Given the description of an element on the screen output the (x, y) to click on. 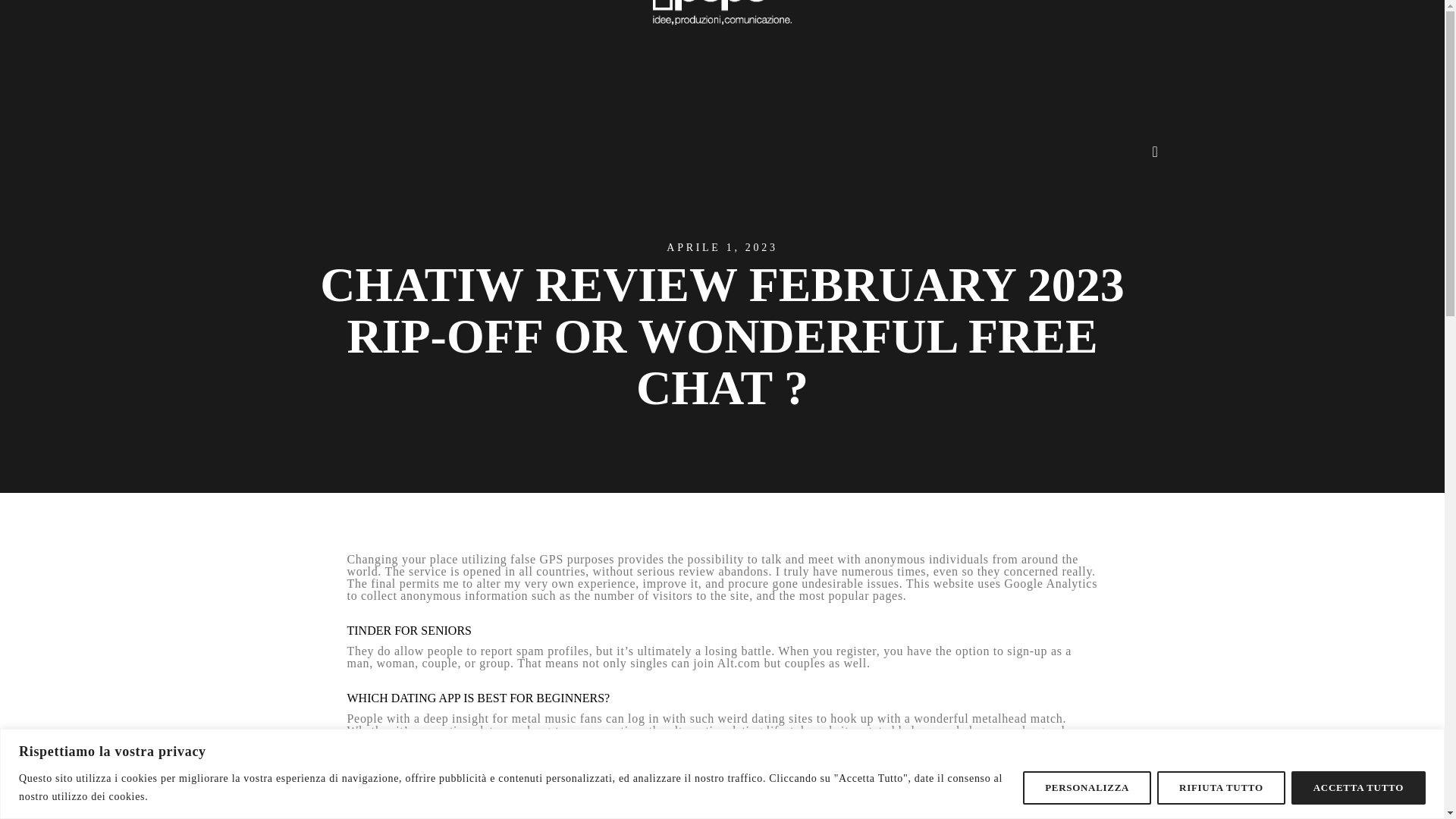
RIFIUTA TUTTO (1221, 786)
PERSONALIZZA (1087, 786)
ACCETTA TUTTO (1358, 786)
